Given the description of an element on the screen output the (x, y) to click on. 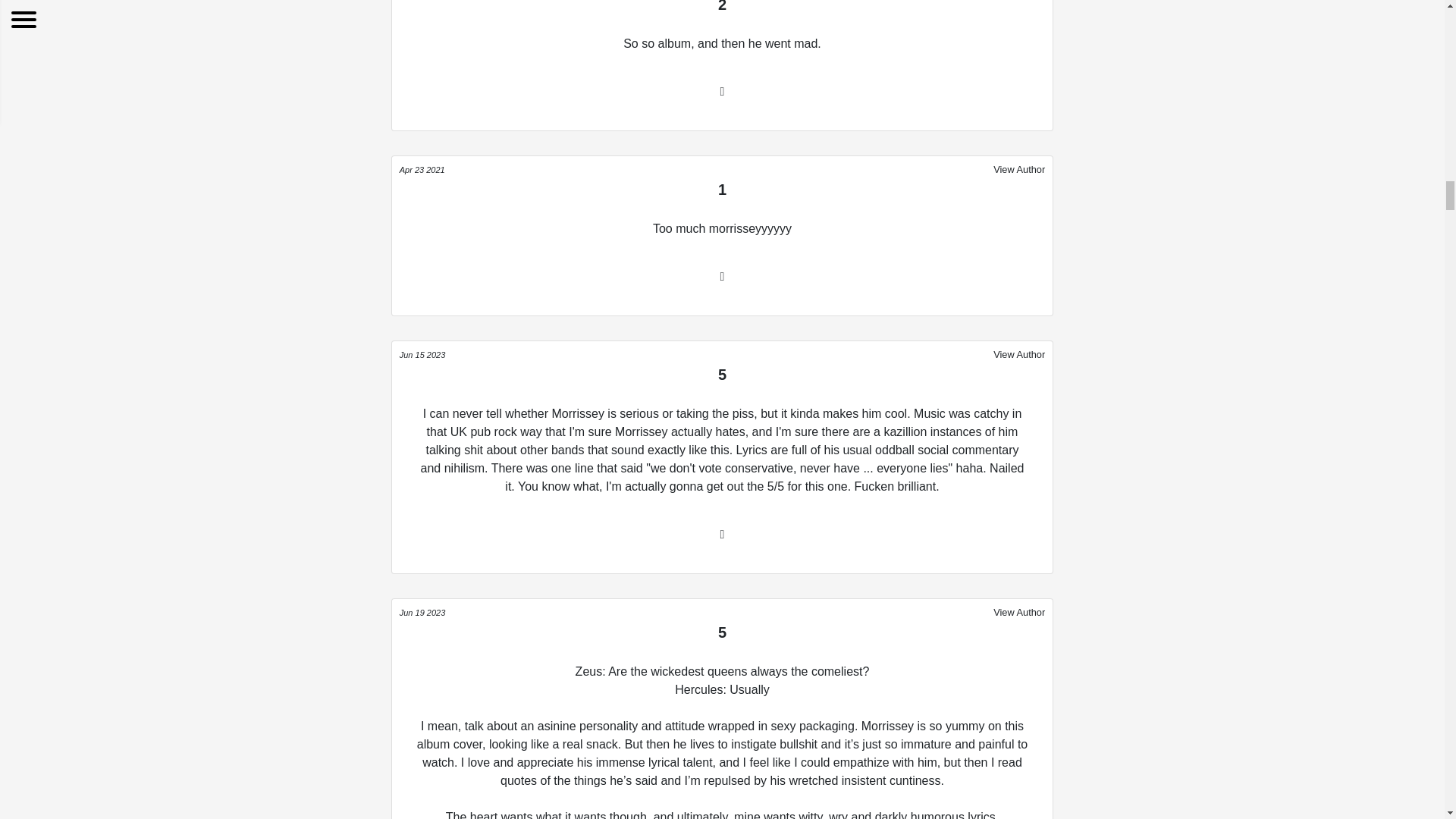
View Author (1018, 353)
View Author (1018, 611)
View Author (1018, 168)
